Given the description of an element on the screen output the (x, y) to click on. 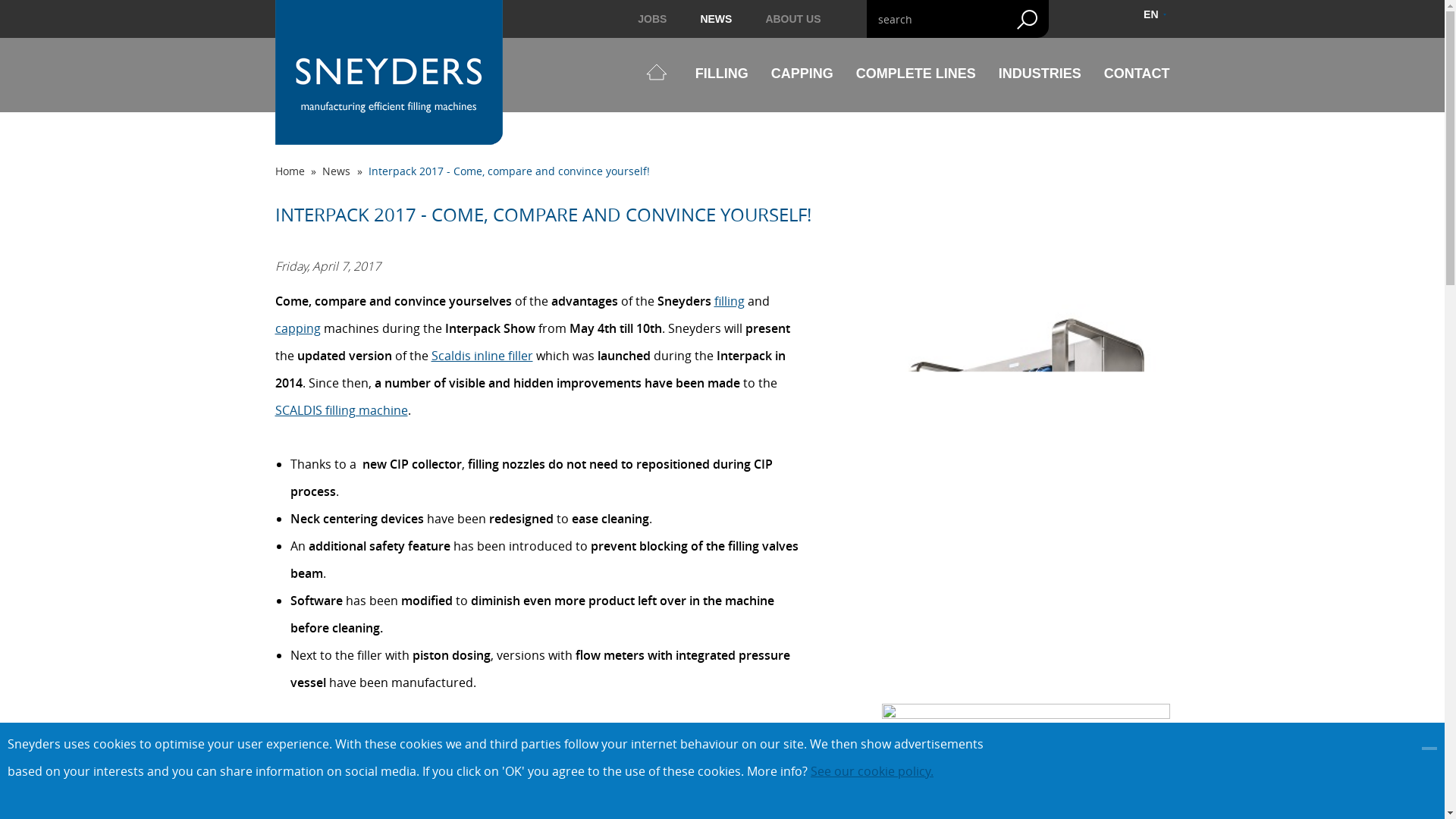
filling (729, 300)
filling (428, 736)
oils (745, 736)
personal health care products (547, 763)
COMPLETE LINES (915, 74)
chemicals (670, 763)
Search (1026, 19)
capping (297, 328)
SCALDIS inline filler (329, 790)
sauces (745, 763)
